Given the description of an element on the screen output the (x, y) to click on. 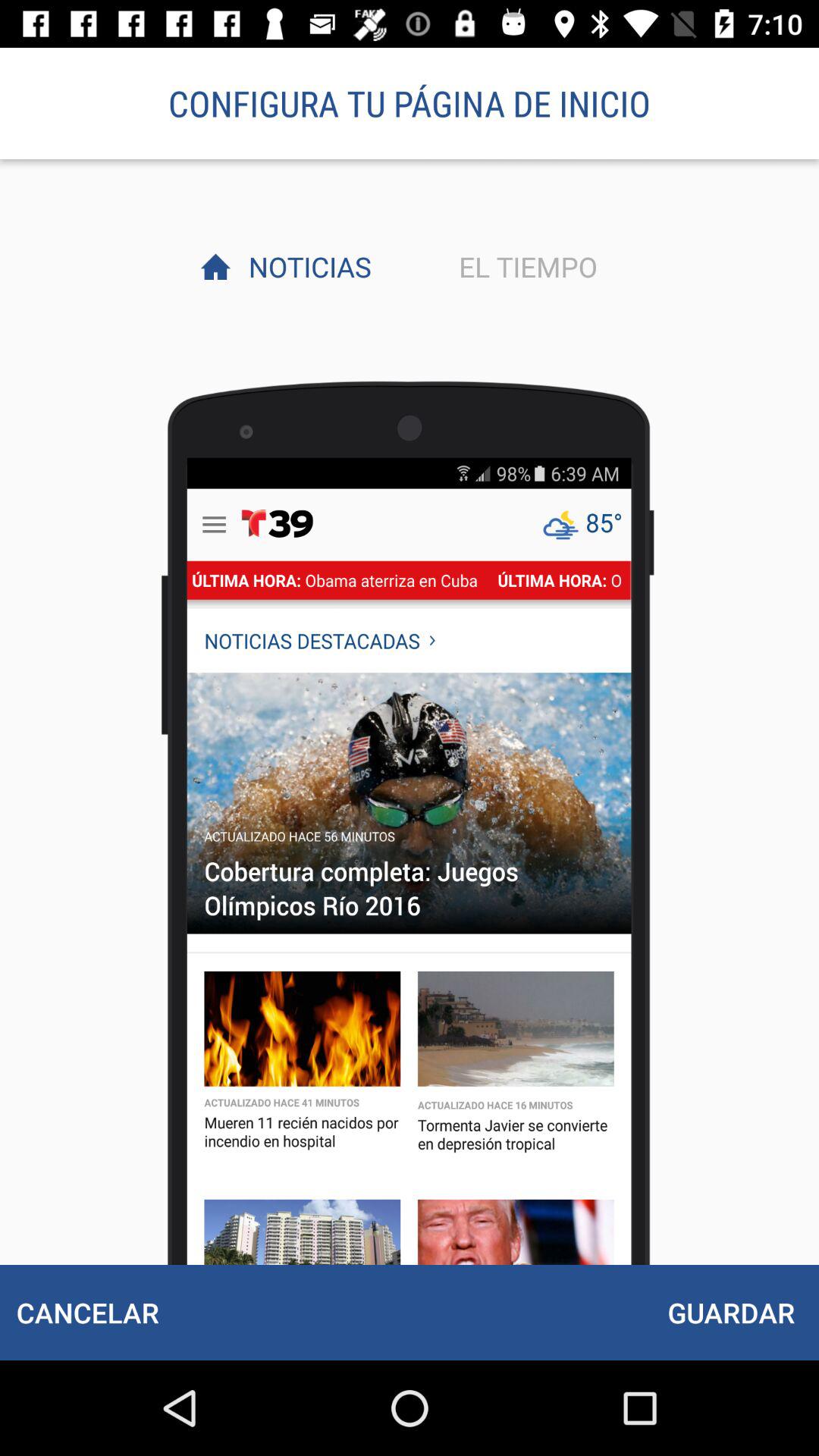
turn off item next to the el tiempo item (305, 266)
